Given the description of an element on the screen output the (x, y) to click on. 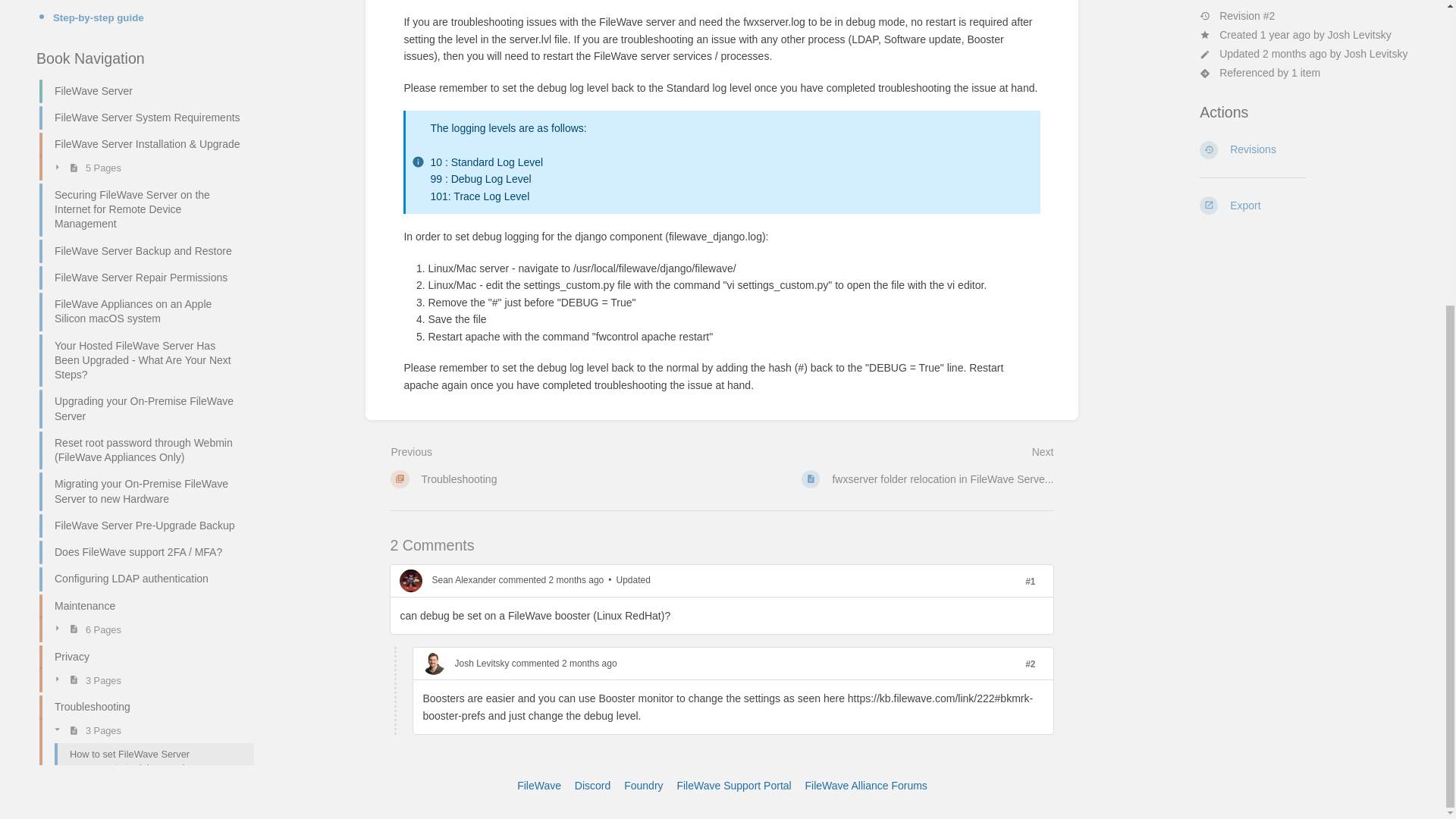
Migrating your On-Premise FileWave Server to new Hardware (140, 117)
Upgrading your On-Premise FileWave Server (140, 34)
2024-05-29 19:45:27 (550, 580)
2024-06-07 16:09:26 (563, 663)
FileWave Server Pre-Upgrade Backup (140, 151)
Updated 2024-05-29 19:46:32 by Sean Alexander (632, 580)
